Given the description of an element on the screen output the (x, y) to click on. 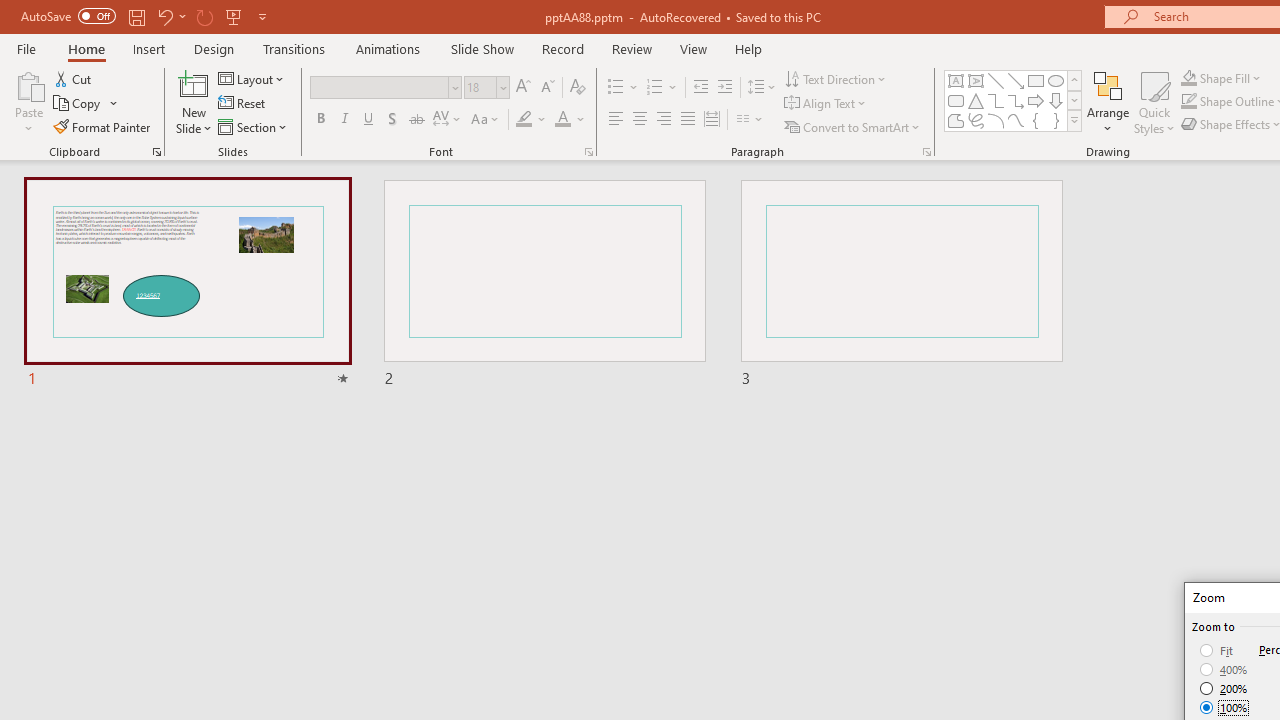
400% (1224, 669)
